Given the description of an element on the screen output the (x, y) to click on. 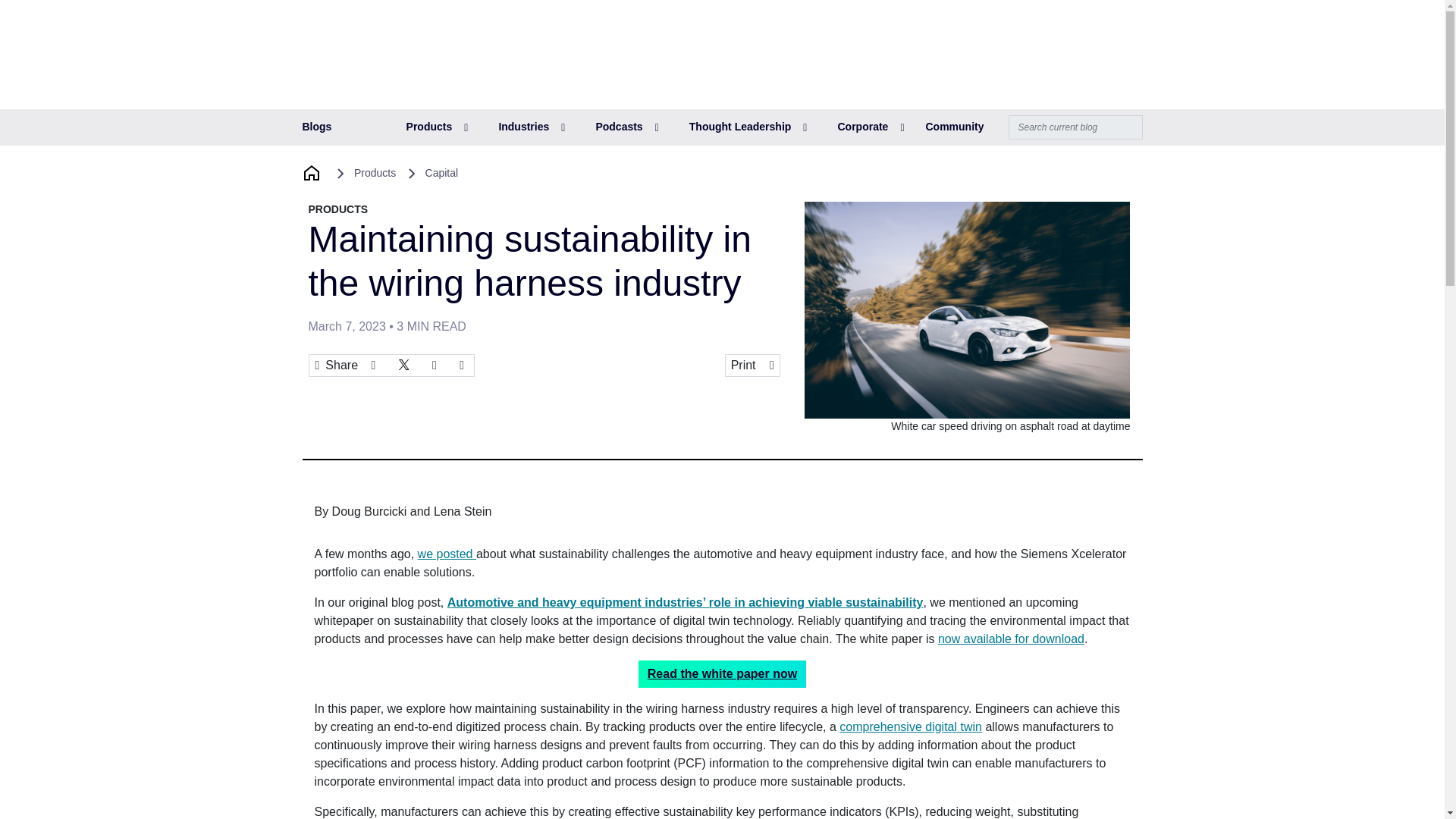
Log in (1050, 31)
Products (437, 127)
Products (437, 127)
Log in (1050, 31)
Blogs (316, 127)
